Given the description of an element on the screen output the (x, y) to click on. 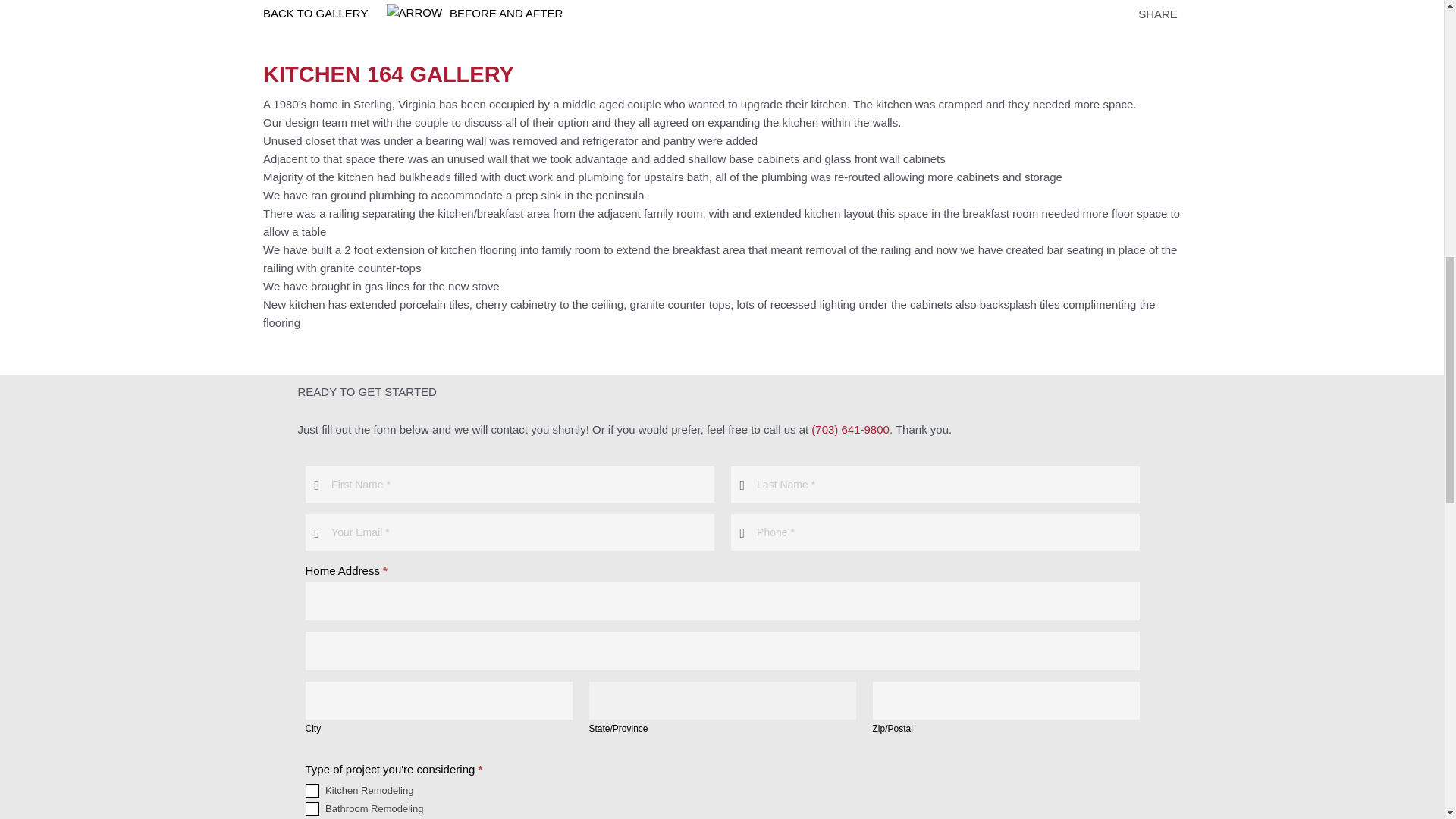
Bathroom Remodeling (311, 808)
Kitchen Remodeling (311, 790)
